Given the description of an element on the screen output the (x, y) to click on. 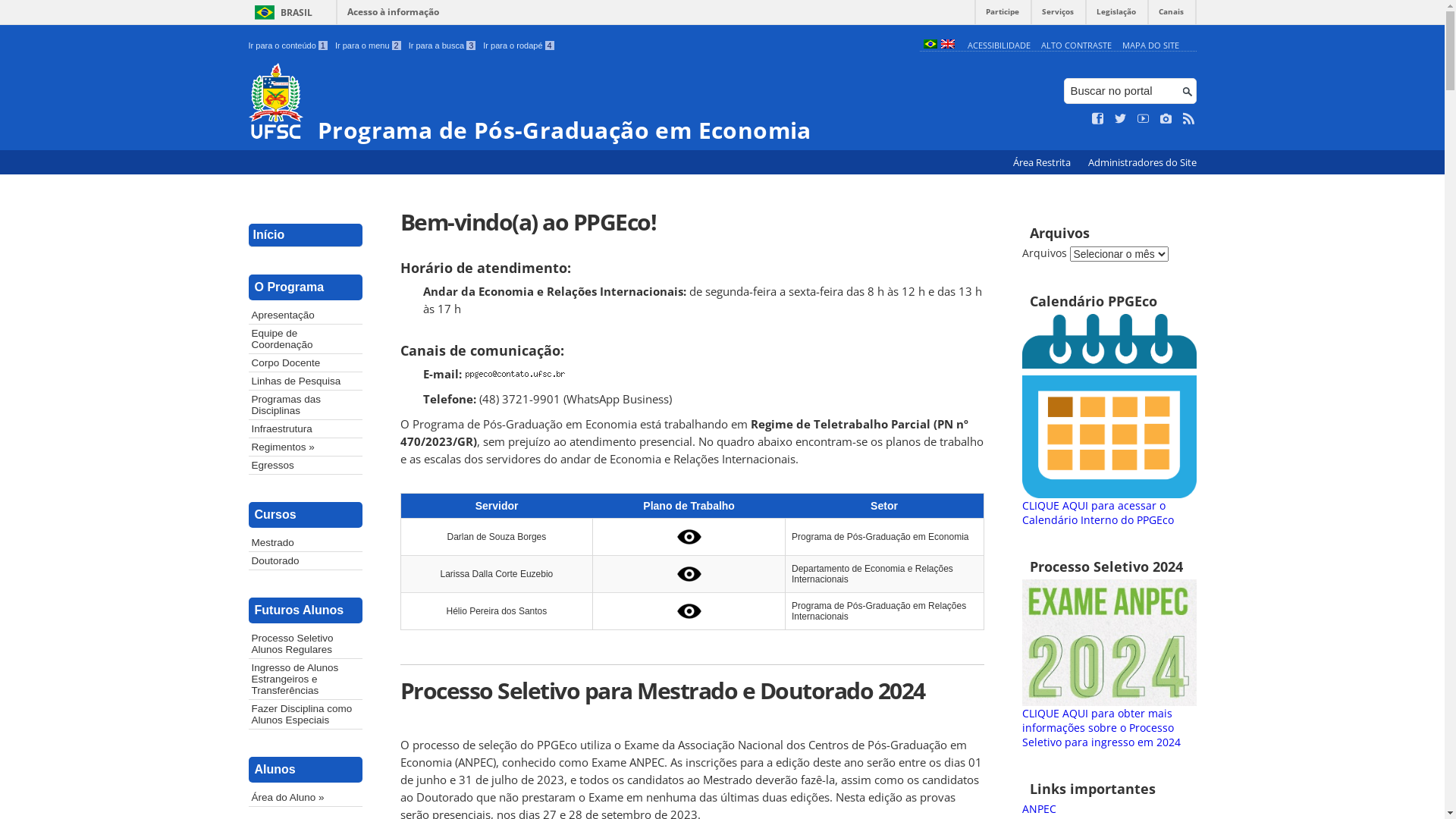
Participe Element type: text (1002, 15)
Curta no Facebook Element type: hover (1098, 118)
Canais Element type: text (1171, 15)
MAPA DO SITE Element type: text (1150, 44)
BRASIL Element type: text (280, 12)
Infraestrutura Element type: text (305, 428)
Mestrado Element type: text (305, 542)
Siga no Twitter Element type: hover (1120, 118)
Ir para o menu 2 Element type: text (368, 45)
English (en) Element type: hover (946, 44)
Egressos Element type: text (305, 464)
Linhas de Pesquisa Element type: text (305, 380)
Veja no Instagram Element type: hover (1166, 118)
ANPEC Element type: text (1039, 808)
Doutorado Element type: text (305, 560)
Processo Seletivo para Mestrado e Doutorado 2024 Element type: text (692, 690)
ALTO CONTRASTE Element type: text (1076, 44)
Programas das Disciplinas Element type: text (305, 404)
Administradores do Site Element type: text (1141, 162)
Processo Seletivo Alunos Regulares Element type: text (305, 643)
ACESSIBILIDADE Element type: text (998, 44)
Fazer Disciplina como Alunos Especiais Element type: text (305, 713)
Corpo Docente Element type: text (305, 362)
Ir para a busca 3 Element type: text (442, 45)
